Given the description of an element on the screen output the (x, y) to click on. 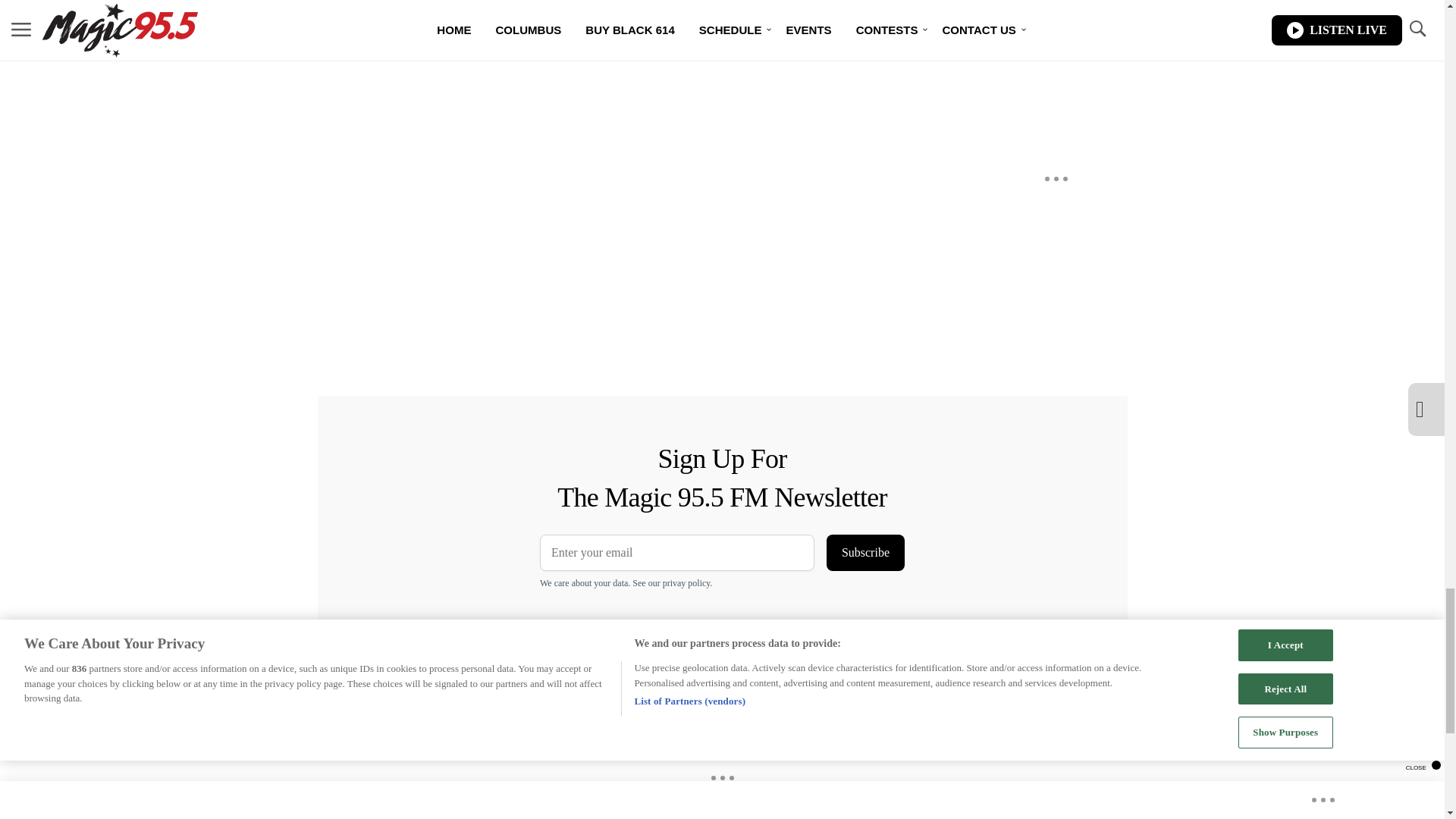
Vuukle Comments Widget (585, 36)
